Given the description of an element on the screen output the (x, y) to click on. 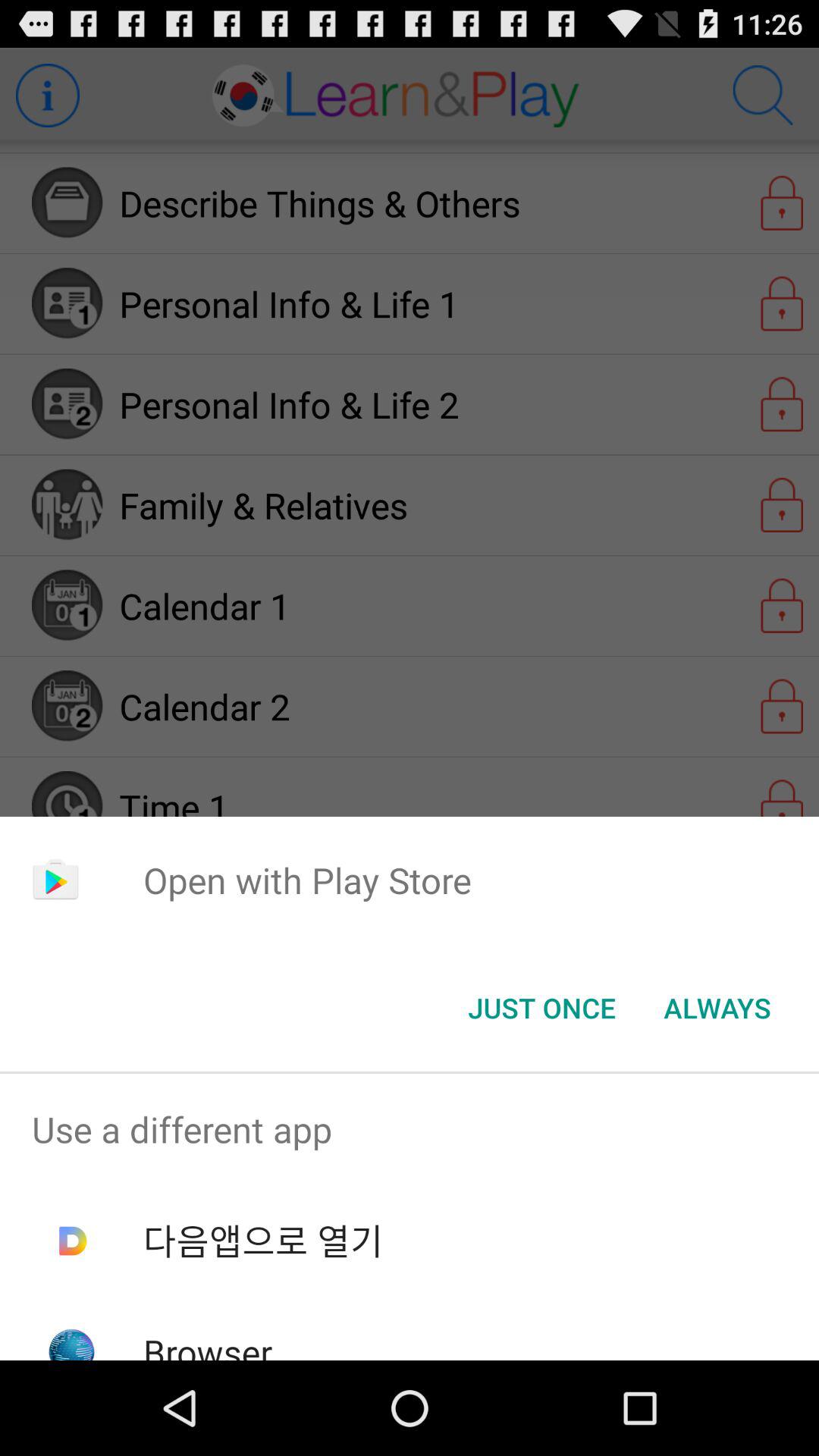
click the icon below open with play (717, 1007)
